Given the description of an element on the screen output the (x, y) to click on. 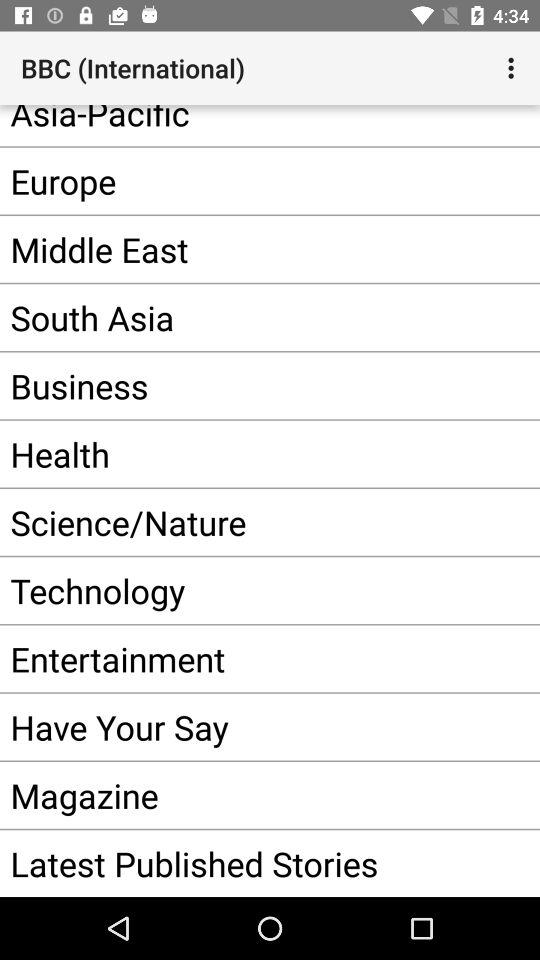
press app above the have your say (249, 658)
